Given the description of an element on the screen output the (x, y) to click on. 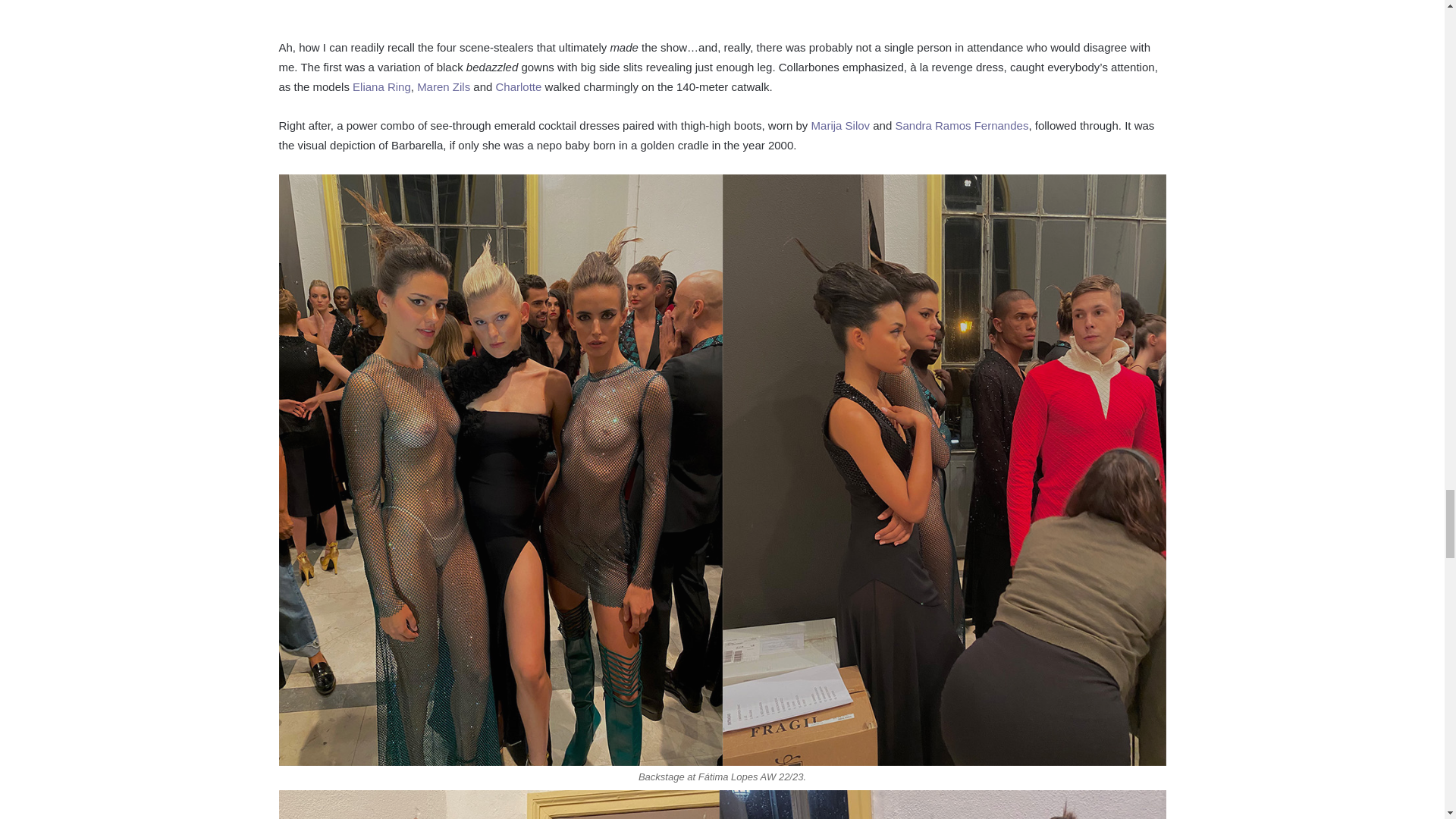
Maren Zils (443, 86)
Sandra Ramos Fernandes (961, 124)
Charlotte (518, 86)
Marija Silov (840, 124)
Eliana Ring (381, 86)
